Given the description of an element on the screen output the (x, y) to click on. 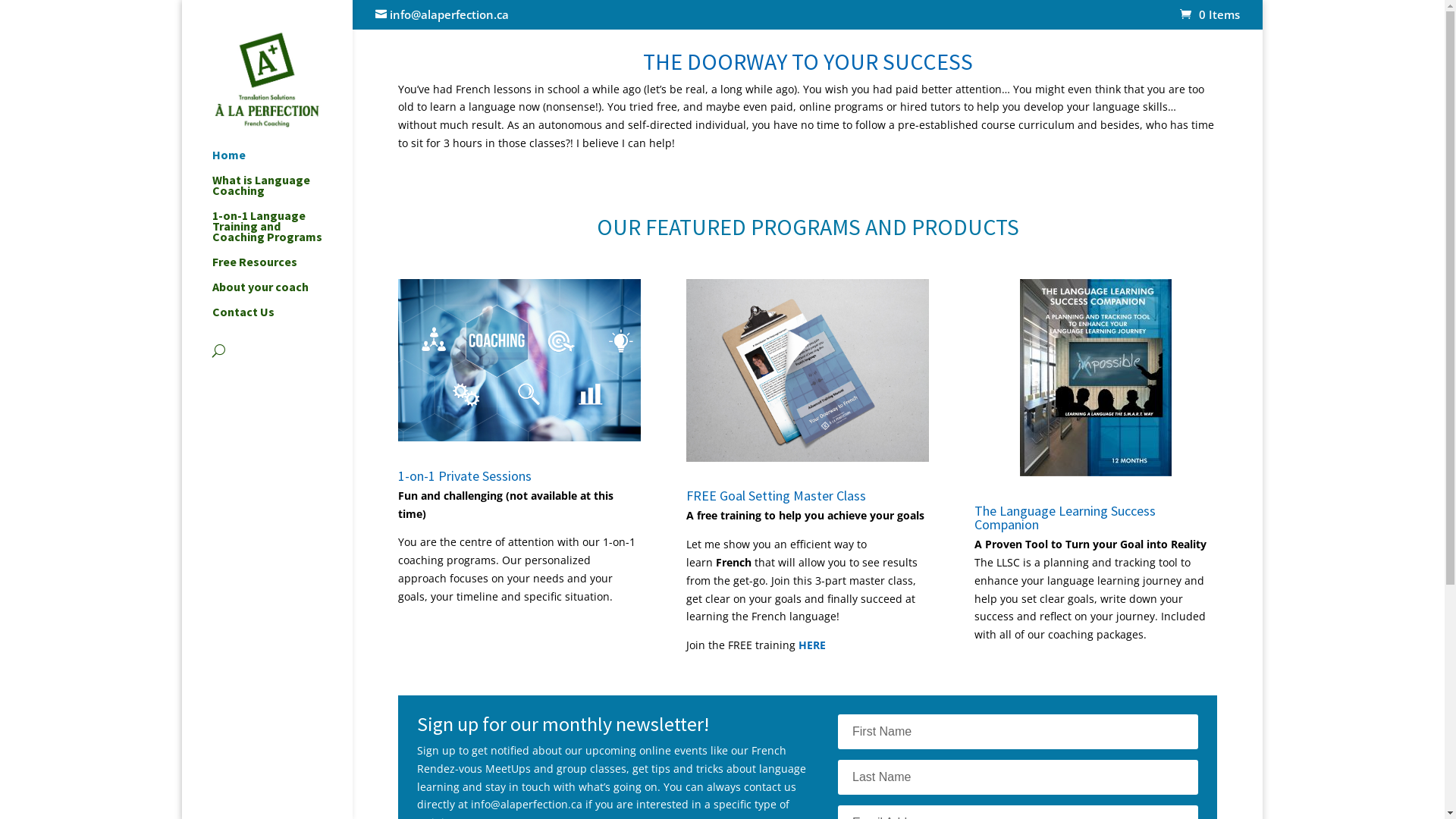
What is Language Coaching Element type: text (282, 192)
HERE Element type: text (811, 644)
Contact Us Element type: text (282, 318)
FREE Goal Setting Master Class Element type: text (776, 495)
info@alaperfection.ca Element type: text (441, 13)
The Language Learning Success Companion Element type: text (1064, 517)
About your coach Element type: text (282, 293)
1-on-1 Language Training and Coaching Programs Element type: text (282, 233)
Free Resources Element type: text (282, 268)
1-on-1 Private Sessions Element type: text (464, 475)
Home Element type: text (282, 161)
0 Items Element type: text (1209, 13)
